Given the description of an element on the screen output the (x, y) to click on. 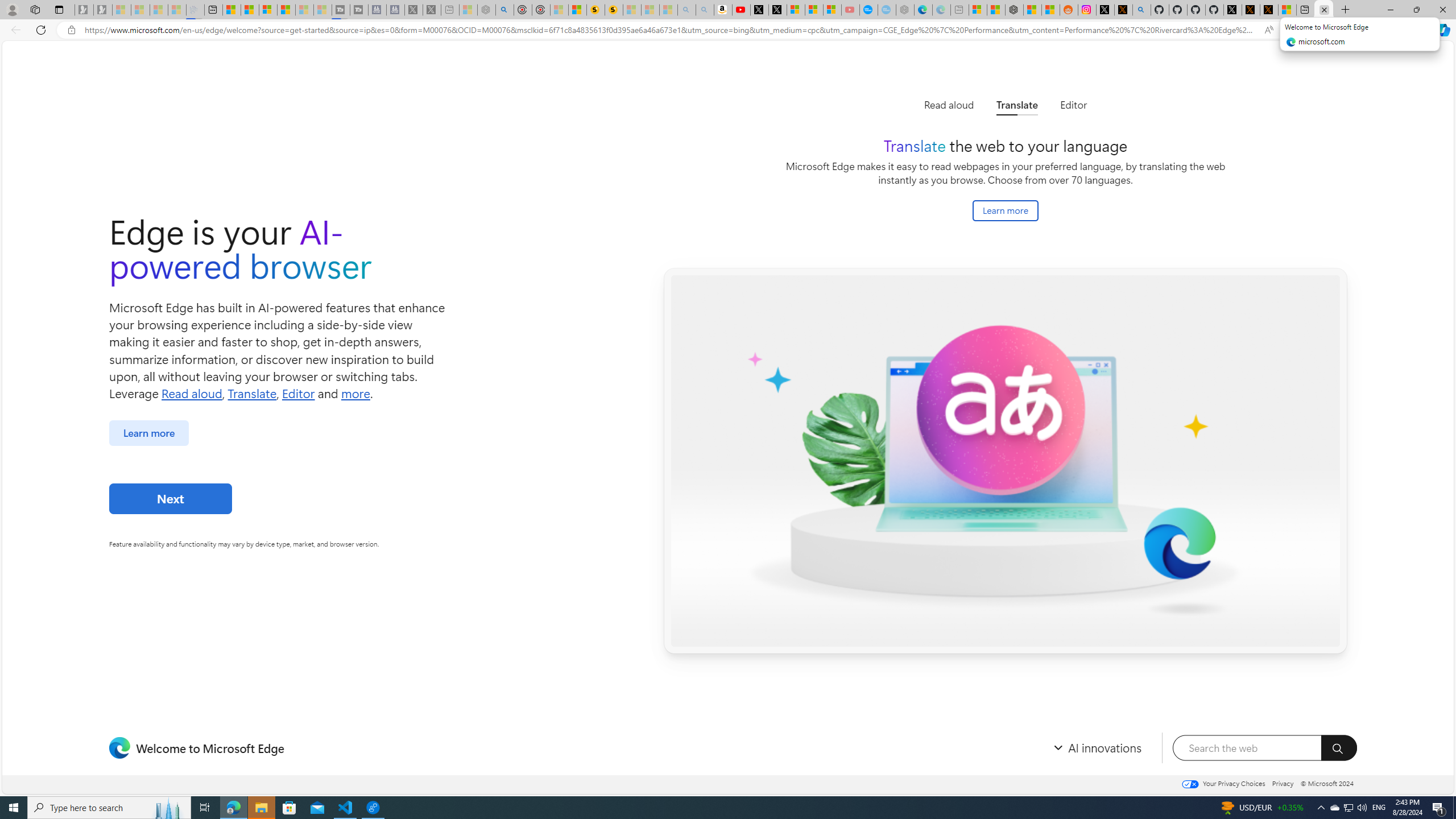
Amazon Echo Dot PNG - Search Images - Sleeping (705, 9)
Log in to X / X (1105, 9)
Welcome to Microsoft Edge (1324, 9)
